Given the description of an element on the screen output the (x, y) to click on. 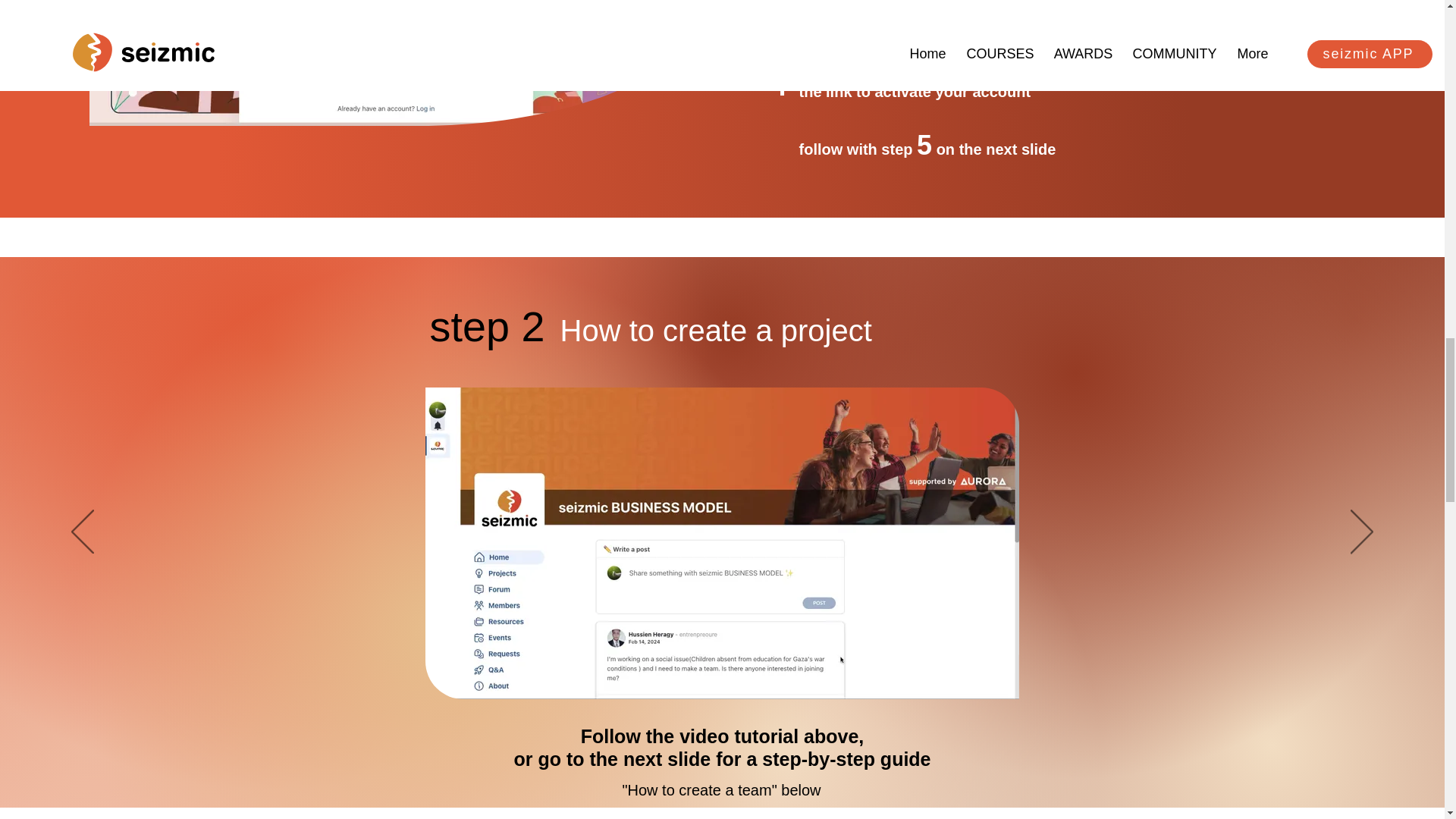
"How to create a team" below (721, 790)
